Given the description of an element on the screen output the (x, y) to click on. 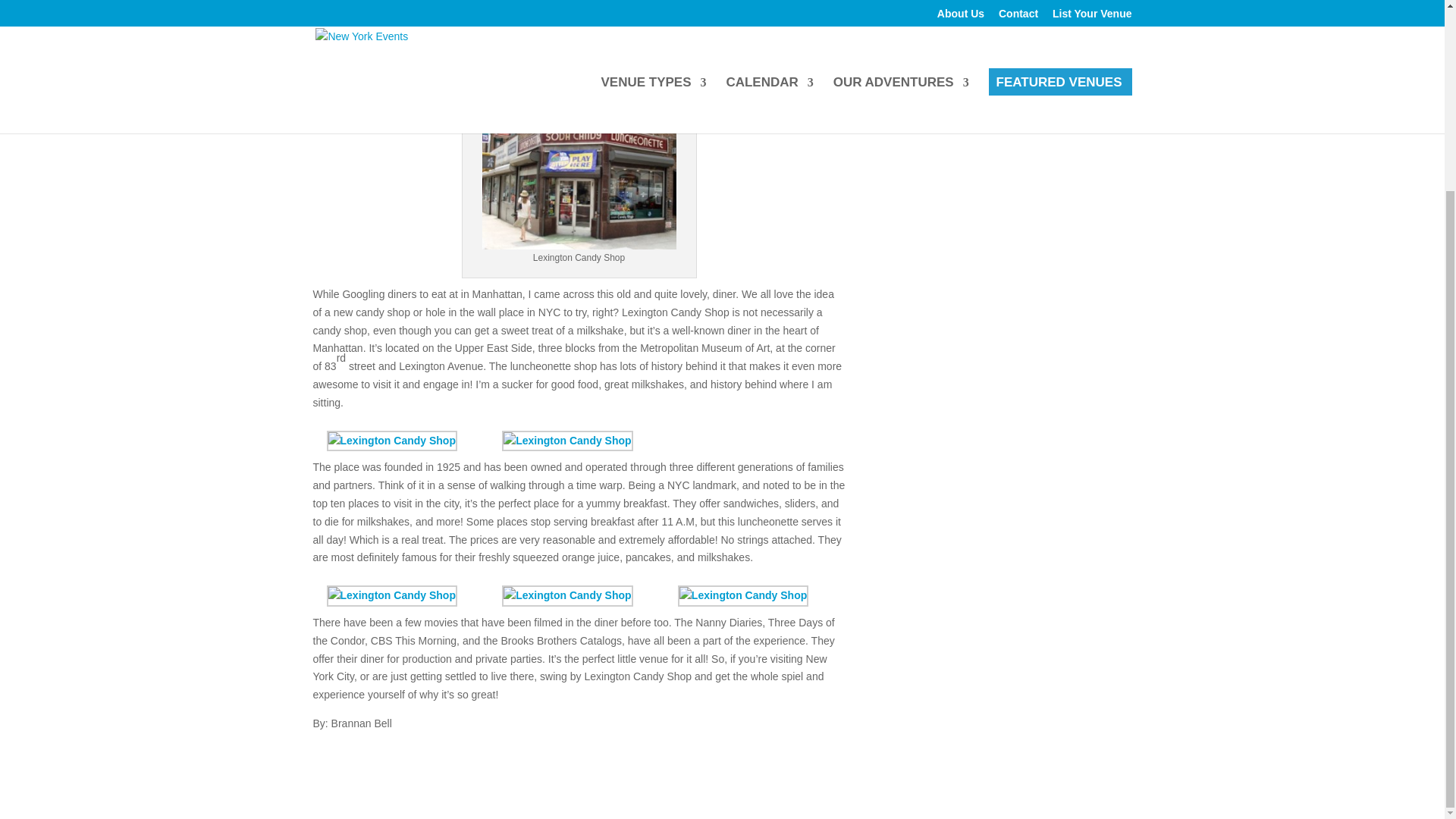
Lexington Candy Shop  (566, 441)
Lexington Candy Shop  (391, 441)
Lexington Candy Shop  (391, 595)
Lexington Candy Shop  (566, 595)
Lexington Candy Shop  (742, 595)
